Given the description of an element on the screen output the (x, y) to click on. 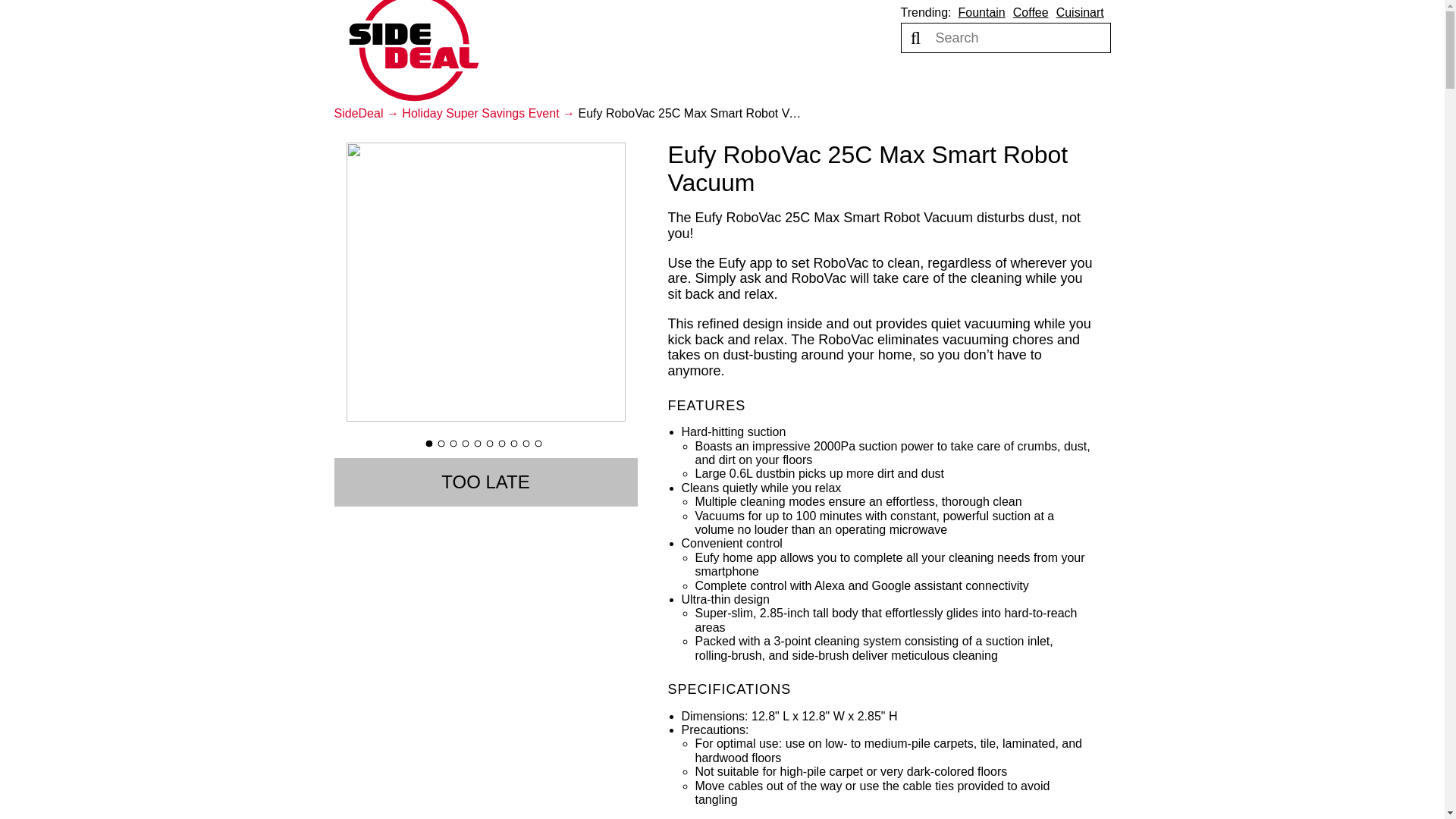
Support (1083, 78)
Best Sellers (525, 78)
Your Account (997, 78)
Clearance (714, 78)
Home (413, 52)
Cuisinart (1080, 11)
Community (900, 78)
Fountain (982, 11)
New Arrivals (622, 78)
Search for Coffee (1030, 11)
Search for Cuisinart (1080, 11)
Membership (805, 78)
Search for Fountain (982, 11)
Coffee (1030, 11)
2-Pack: Enerplex Memory Foam Pillow With Extra Foam (15, 803)
